Given the description of an element on the screen output the (x, y) to click on. 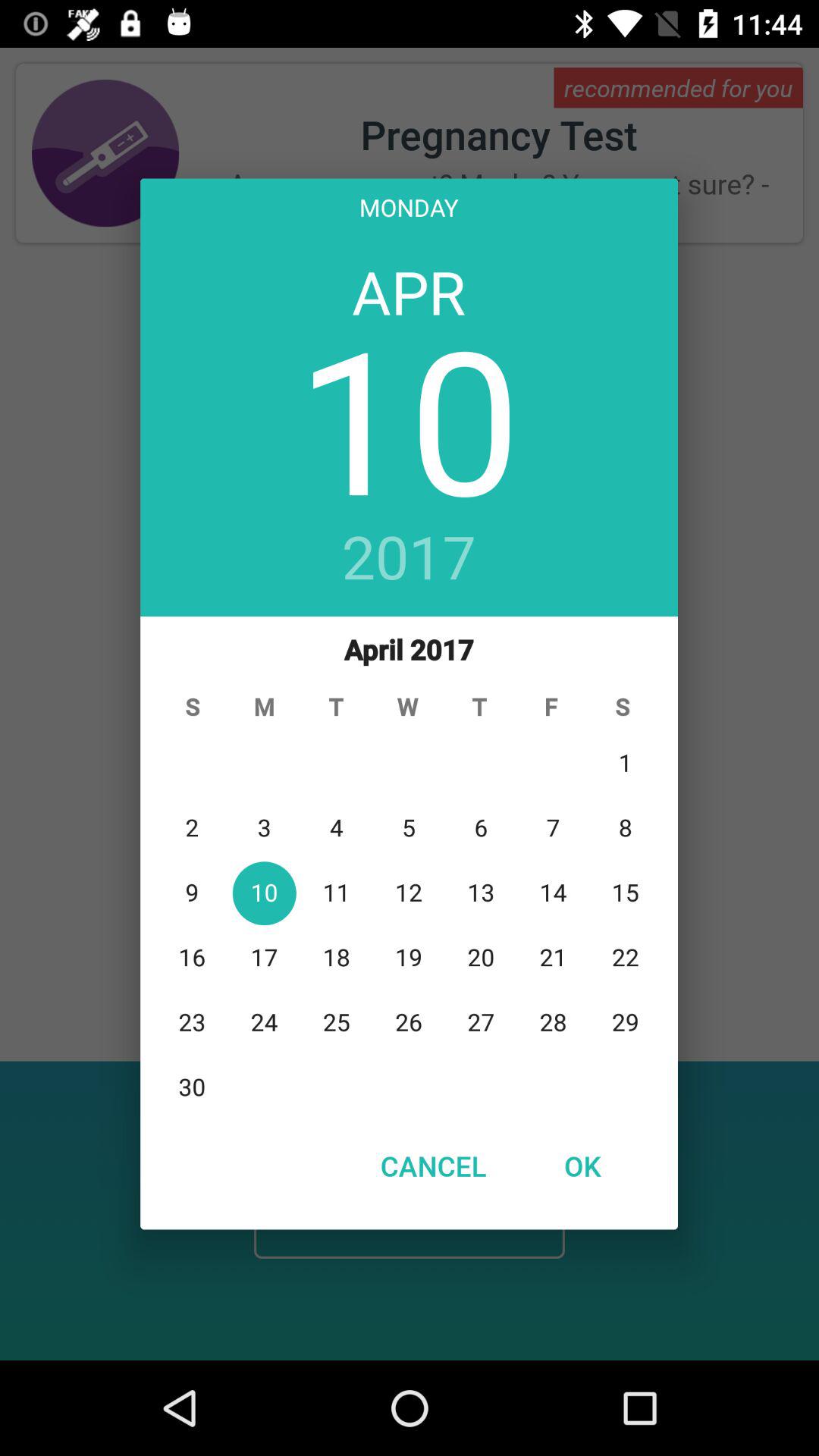
click item next to the ok item (433, 1165)
